Given the description of an element on the screen output the (x, y) to click on. 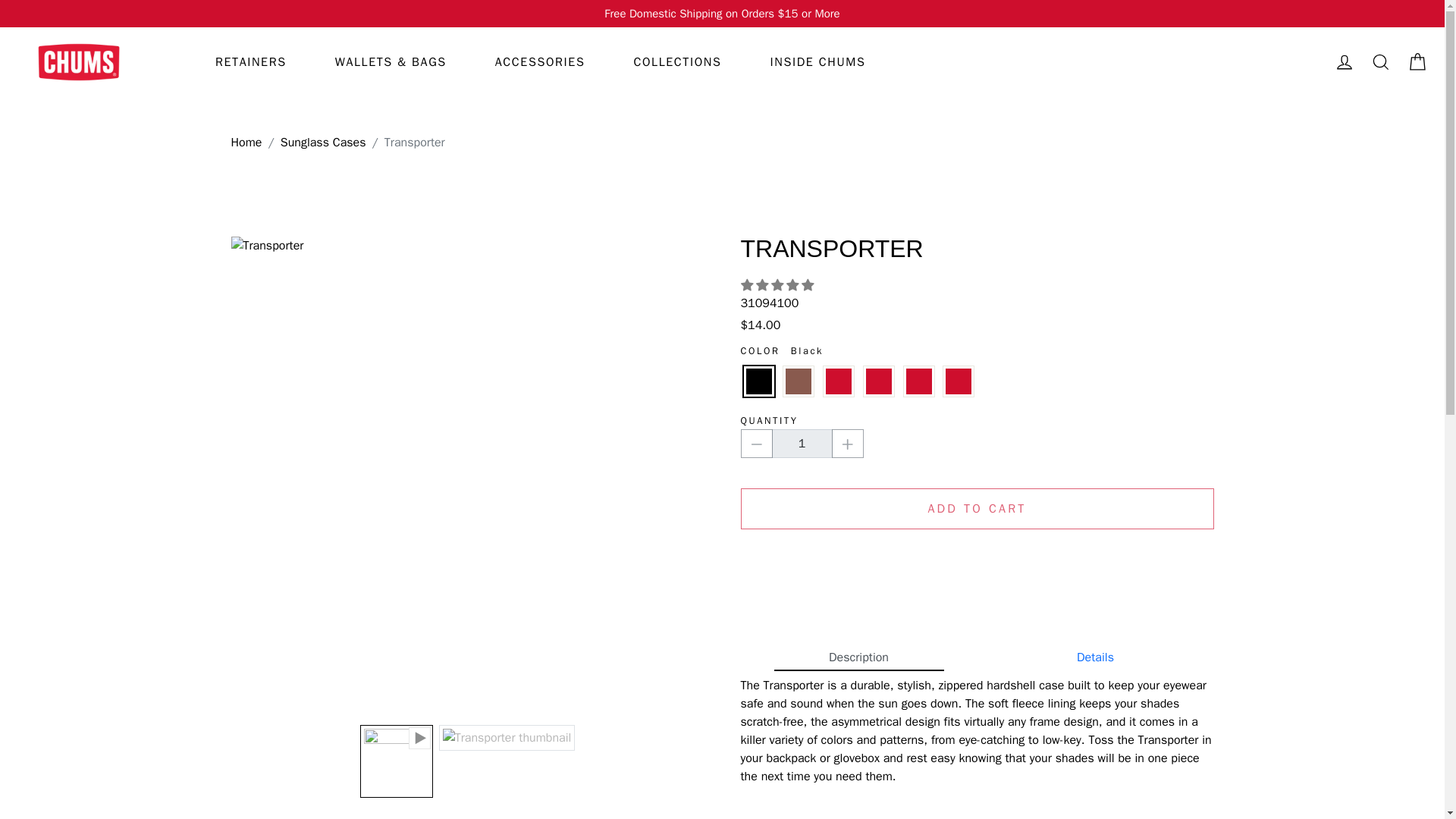
1 (801, 443)
Blue   (838, 381)
Rainbow Tie-Dye   (958, 381)
Back to the frontpage (246, 142)
COLLECTIONS (676, 62)
RETAINERS (250, 62)
ACCESSORIES (540, 62)
Black   (757, 381)
Brown   (798, 381)
Fish Camo Green   (878, 381)
